Given the description of an element on the screen output the (x, y) to click on. 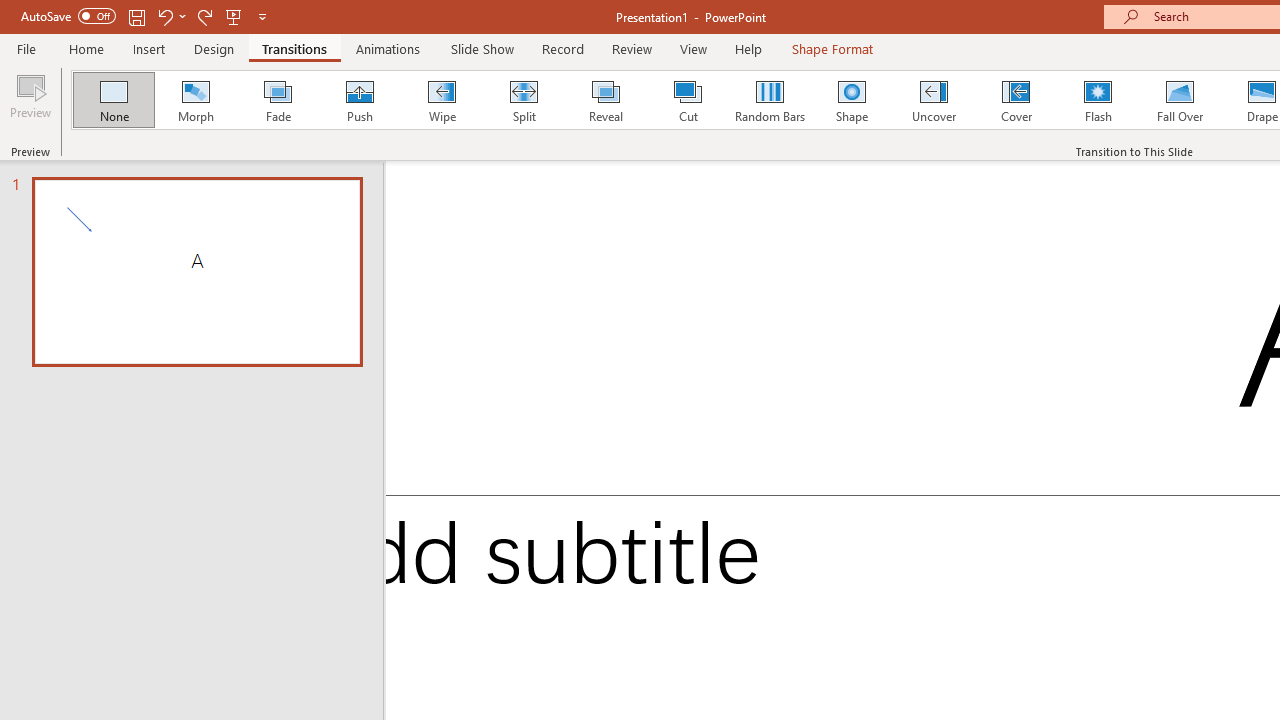
Cover (1016, 100)
